Given the description of an element on the screen output the (x, y) to click on. 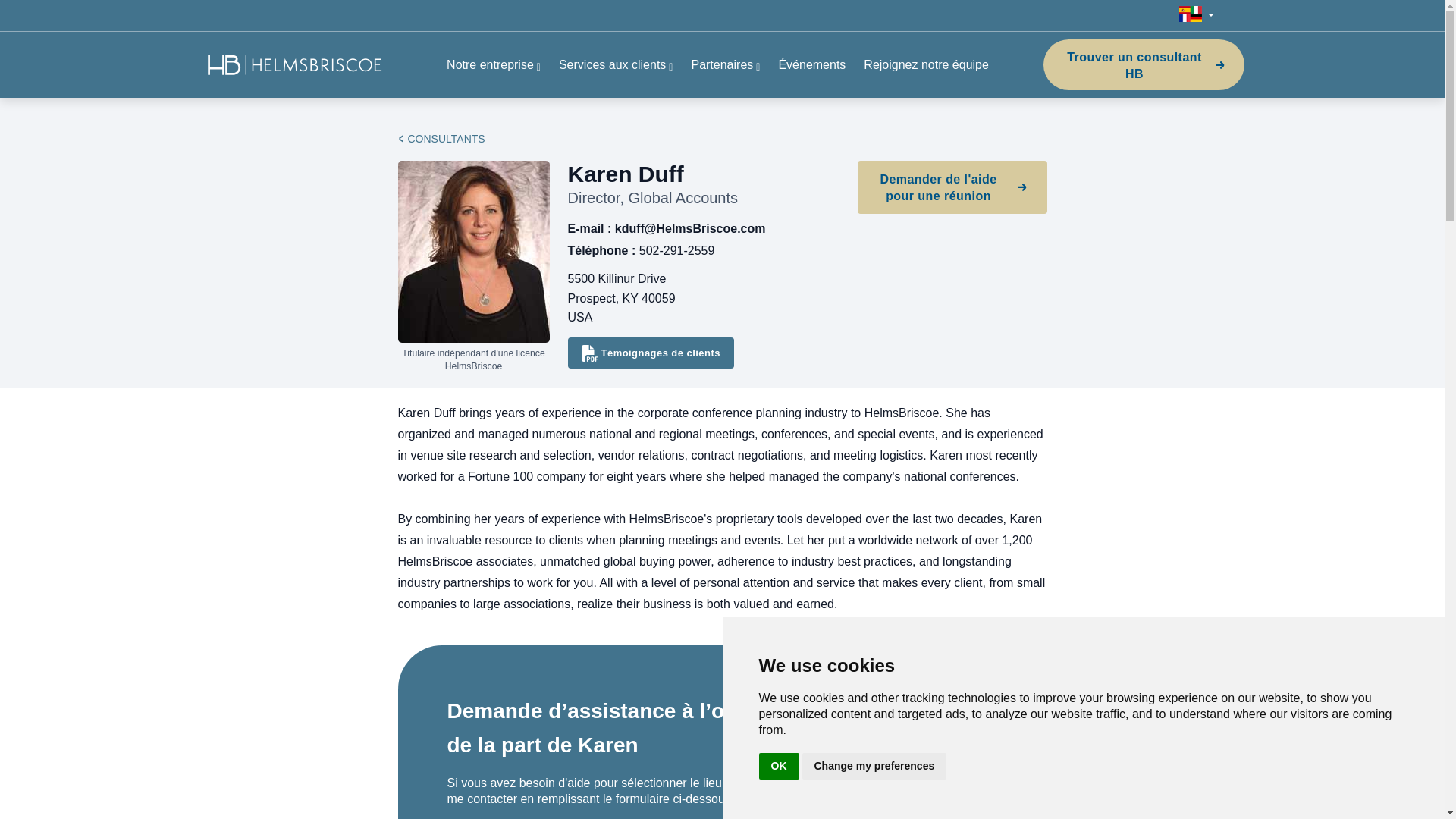
CONSULTANTS (445, 138)
OK (777, 765)
Global Switch (1195, 15)
Trouver un consultant HB (1143, 64)
Change my preferences (874, 765)
